Given the description of an element on the screen output the (x, y) to click on. 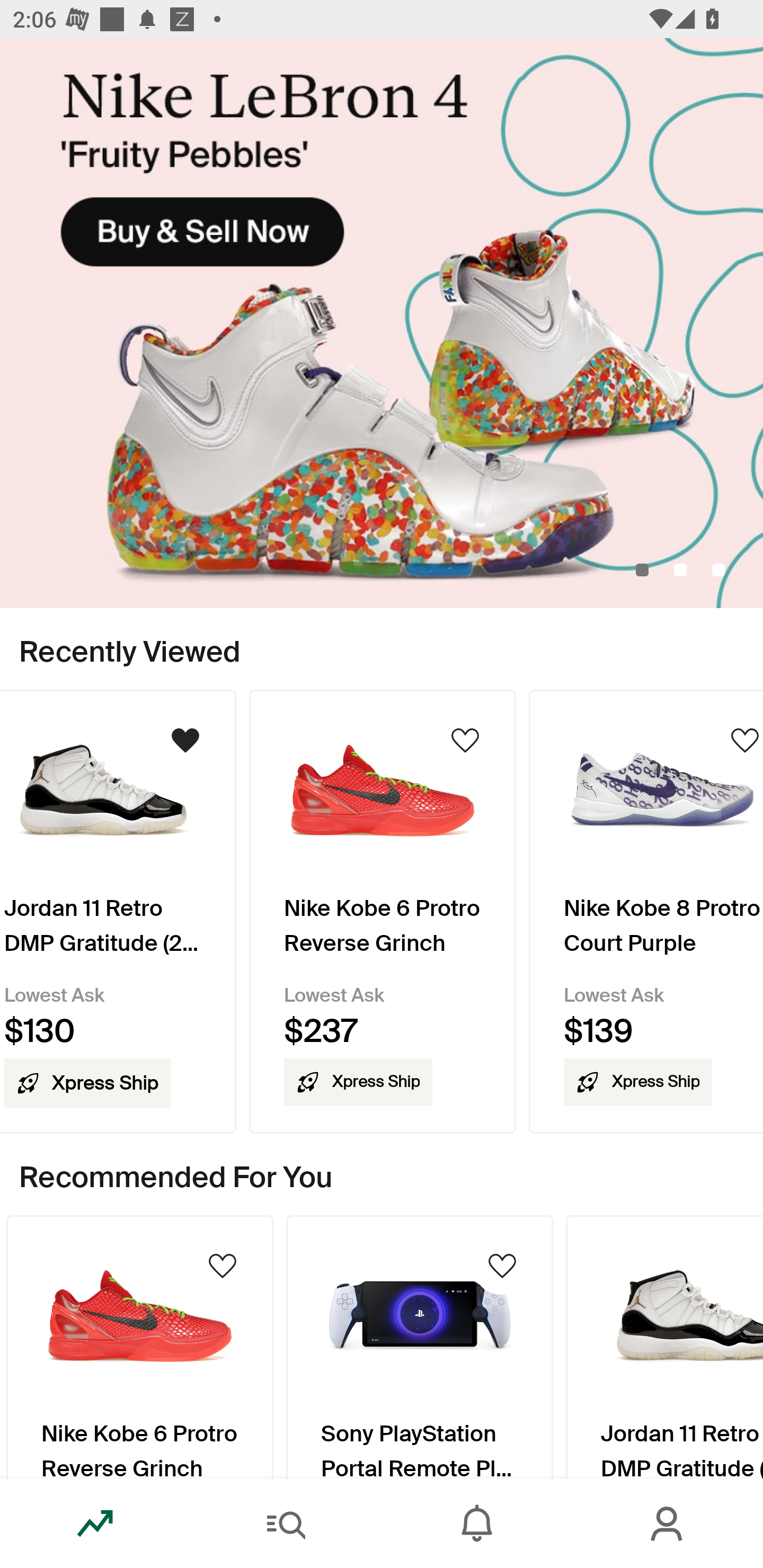
Product Image Nike Kobe 6 Protro Reverse Grinch (139, 1346)
Search (285, 1523)
Inbox (476, 1523)
Account (667, 1523)
